Given the description of an element on the screen output the (x, y) to click on. 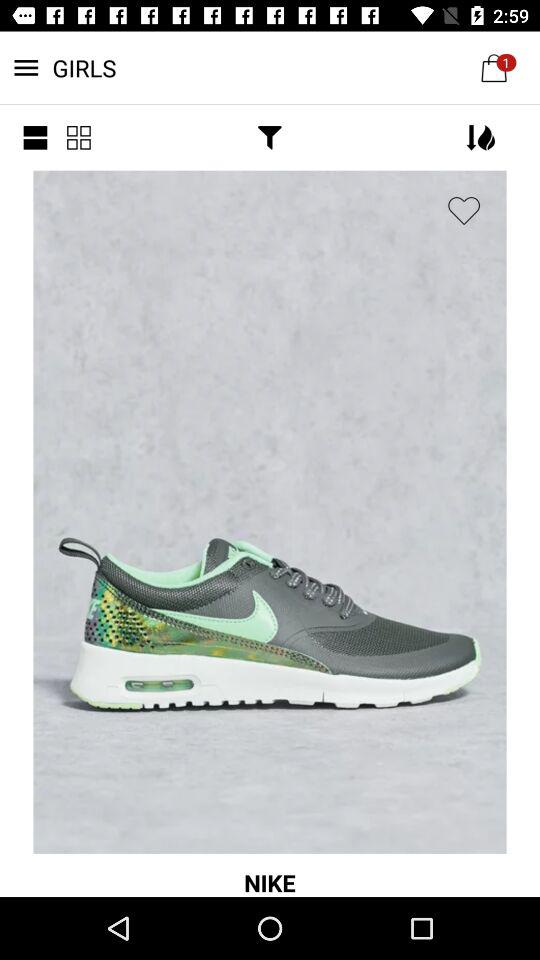
click the item below girls (78, 137)
